Given the description of an element on the screen output the (x, y) to click on. 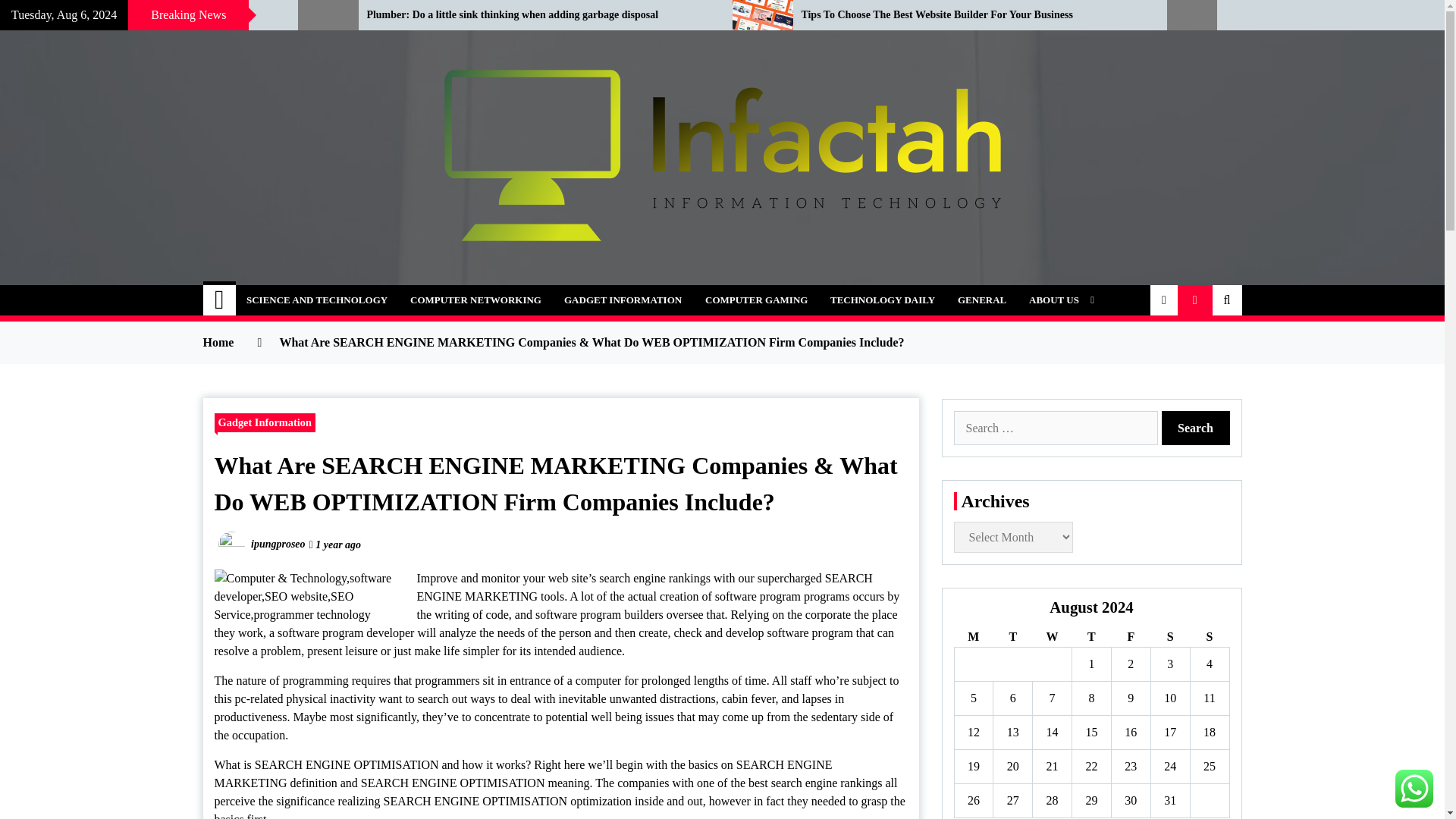
Saturday (1169, 637)
Tips To Choose The Best Website Builder For Your Business (972, 15)
Friday (1130, 637)
Home (219, 300)
Best AirPods Cyber Monday Deals 2022 (137, 15)
Search (1195, 428)
Search (1195, 428)
Thursday (1091, 637)
Wednesday (1051, 637)
